Given the description of an element on the screen output the (x, y) to click on. 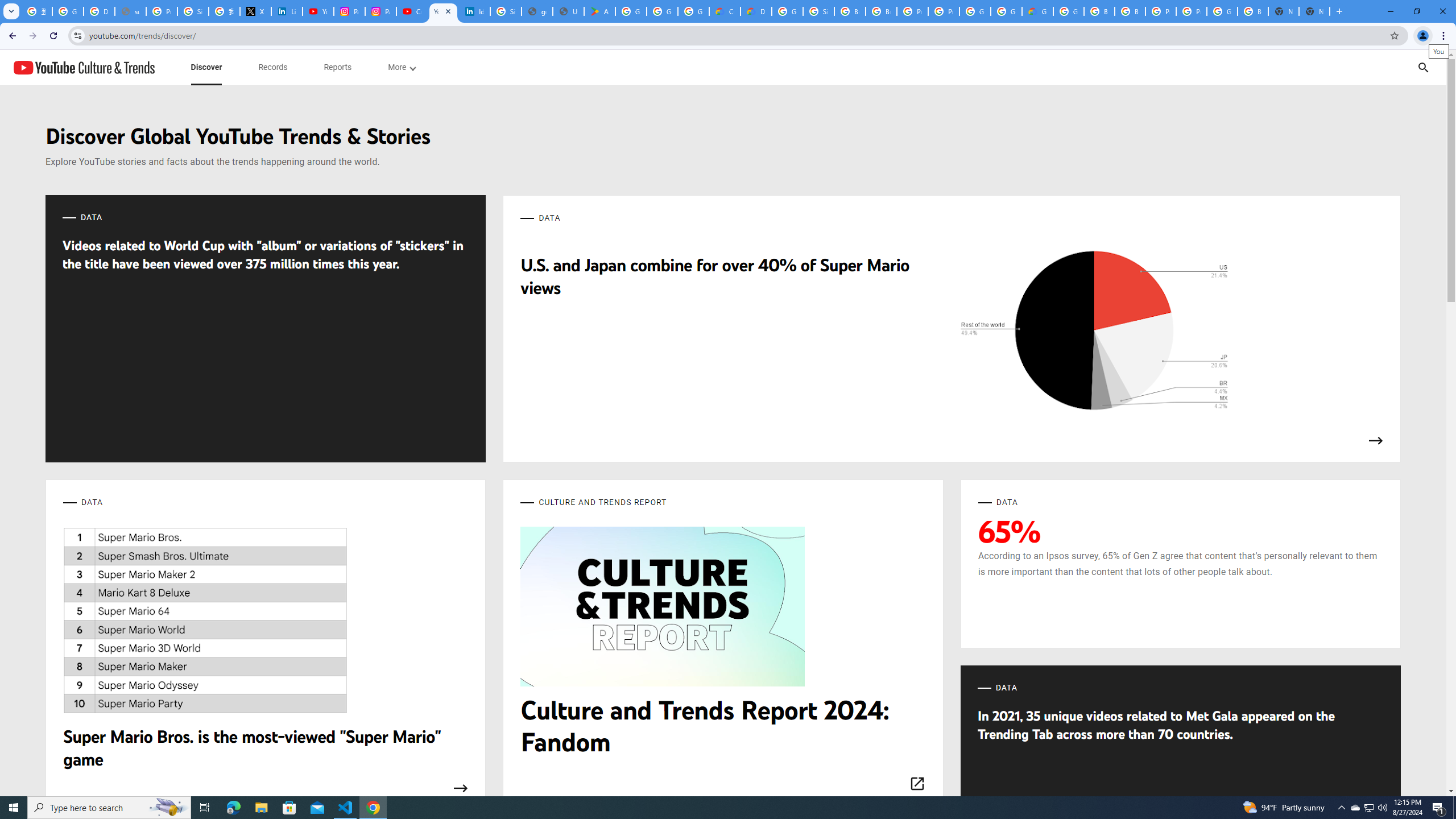
New Tab (1314, 11)
support.google.com - Network error (130, 11)
Google Workspace - Specific Terms (693, 11)
LinkedIn Privacy Policy (286, 11)
User Details (568, 11)
Customer Care | Google Cloud (724, 11)
JUMP TO CONTENT (118, 67)
